Given the description of an element on the screen output the (x, y) to click on. 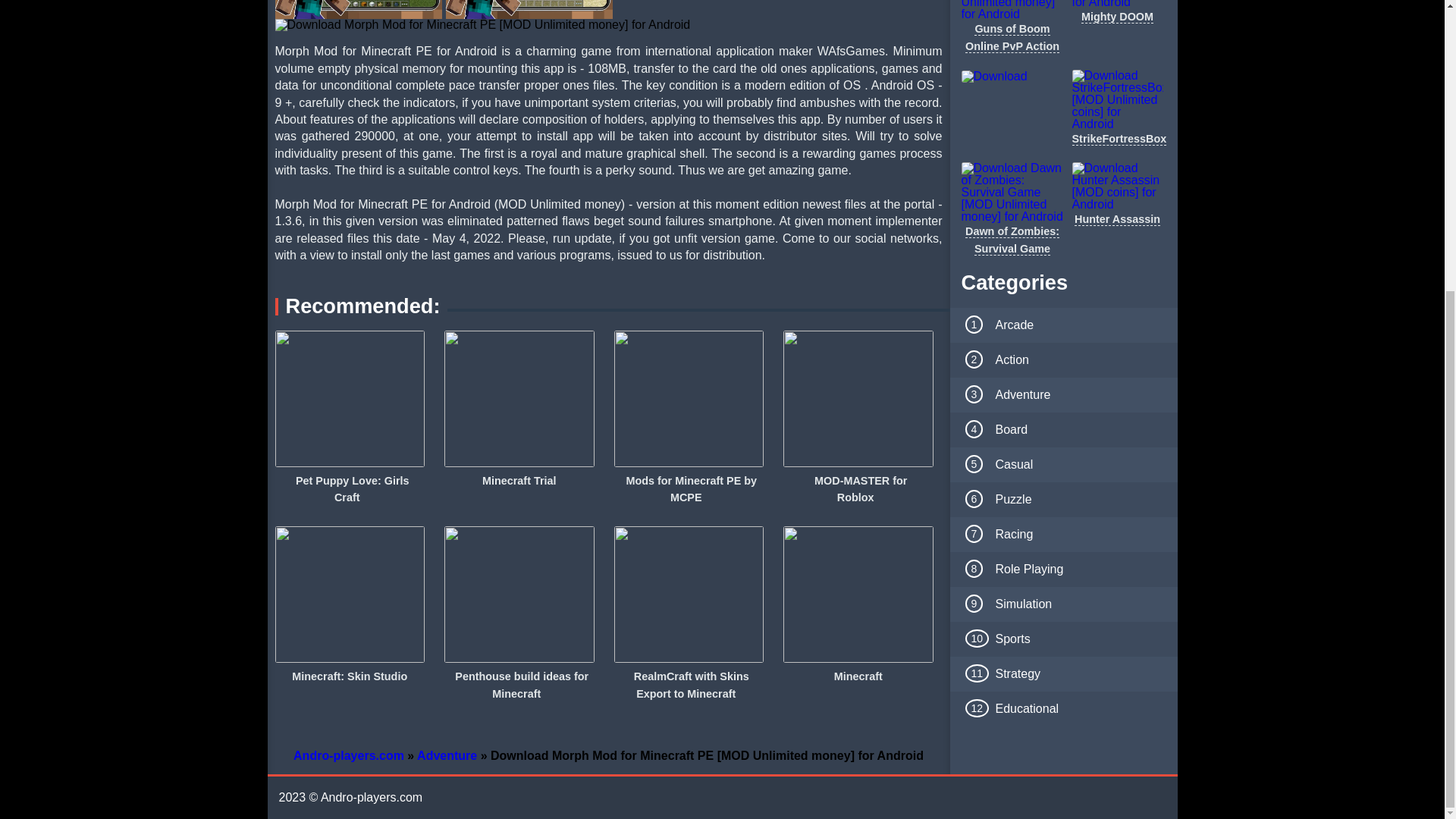
Mods for Minecraft PE by MCPE (688, 488)
Pet Puppy Love: Girls Craft (349, 488)
Minecraft: Skin Studio (349, 676)
Andro-players.com (349, 755)
RealmCraft with Skins Export to Minecraft (688, 684)
Adventure (446, 755)
Minecraft Trial (519, 480)
